Given the description of an element on the screen output the (x, y) to click on. 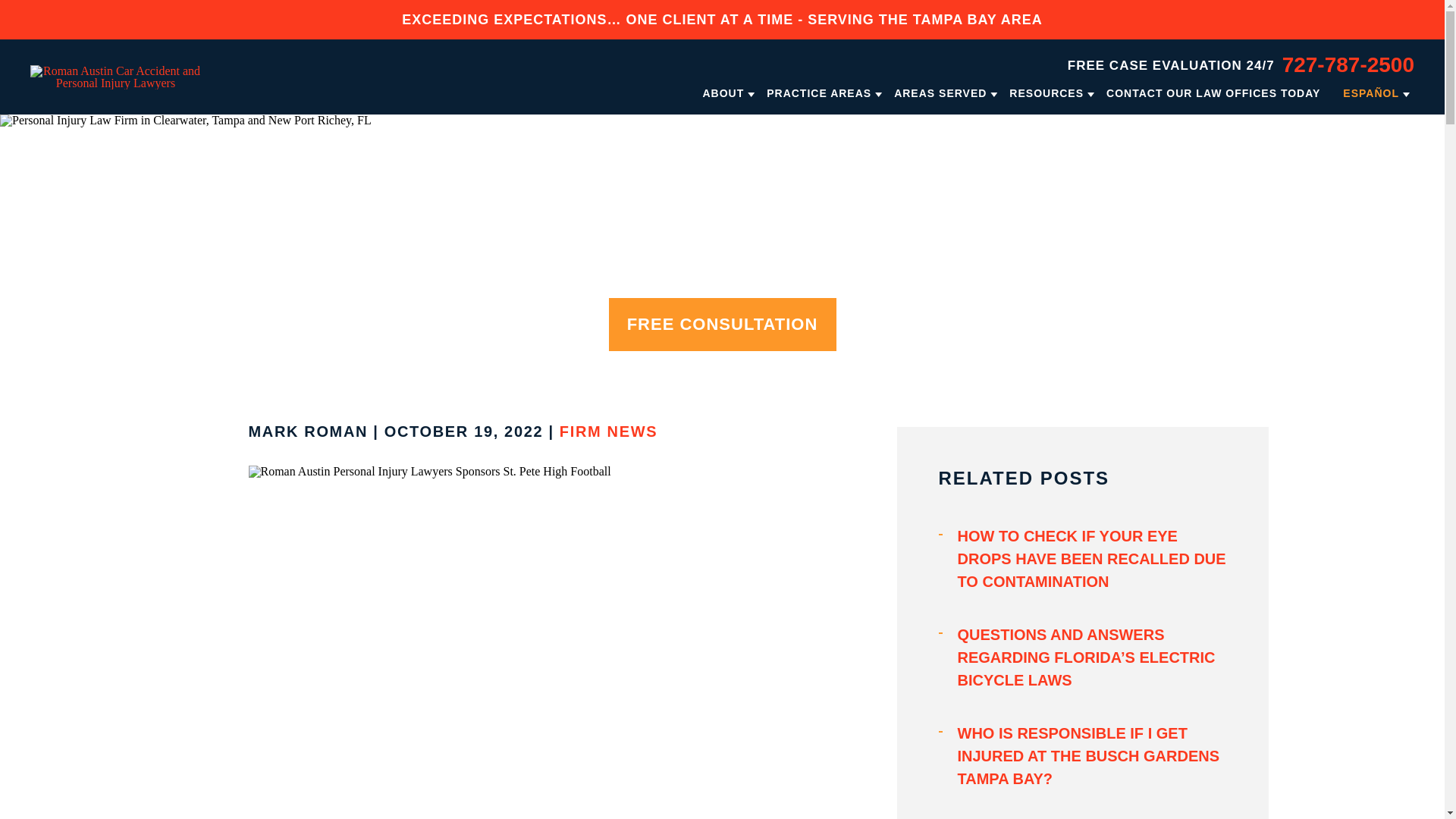
CONTACT OUR LAW OFFICES TODAY (1213, 92)
ABOUT (722, 92)
RESOURCES (1046, 92)
AREAS SERVED (940, 92)
PRACTICE AREAS (818, 92)
FREE CONSULTATION (721, 324)
727-787-2500 (1347, 65)
